Given the description of an element on the screen output the (x, y) to click on. 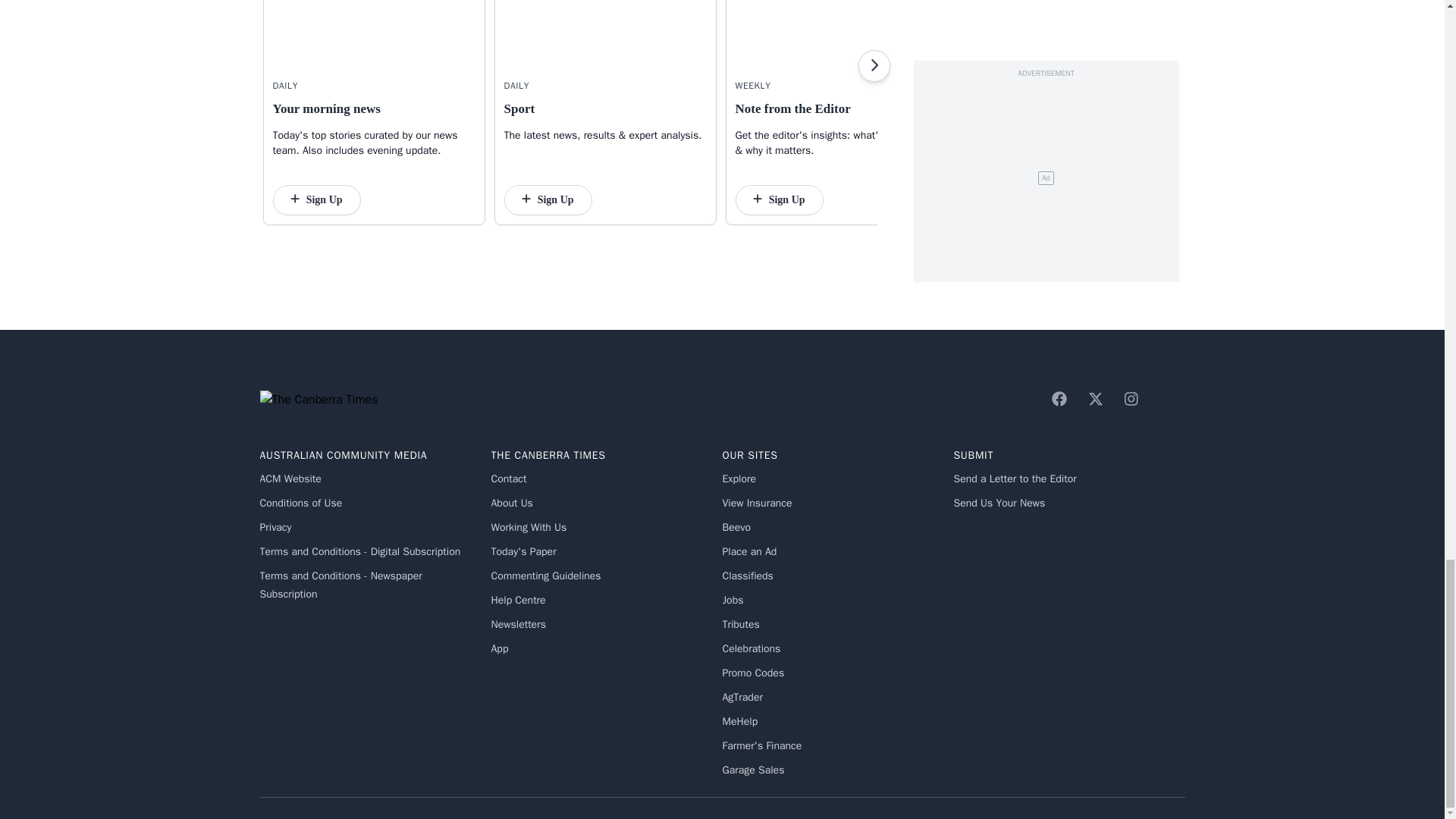
Sport Newsletter (604, 34)
Note from the Editor Newsletter (836, 34)
Your morning news Newsletter (374, 34)
